Given the description of an element on the screen output the (x, y) to click on. 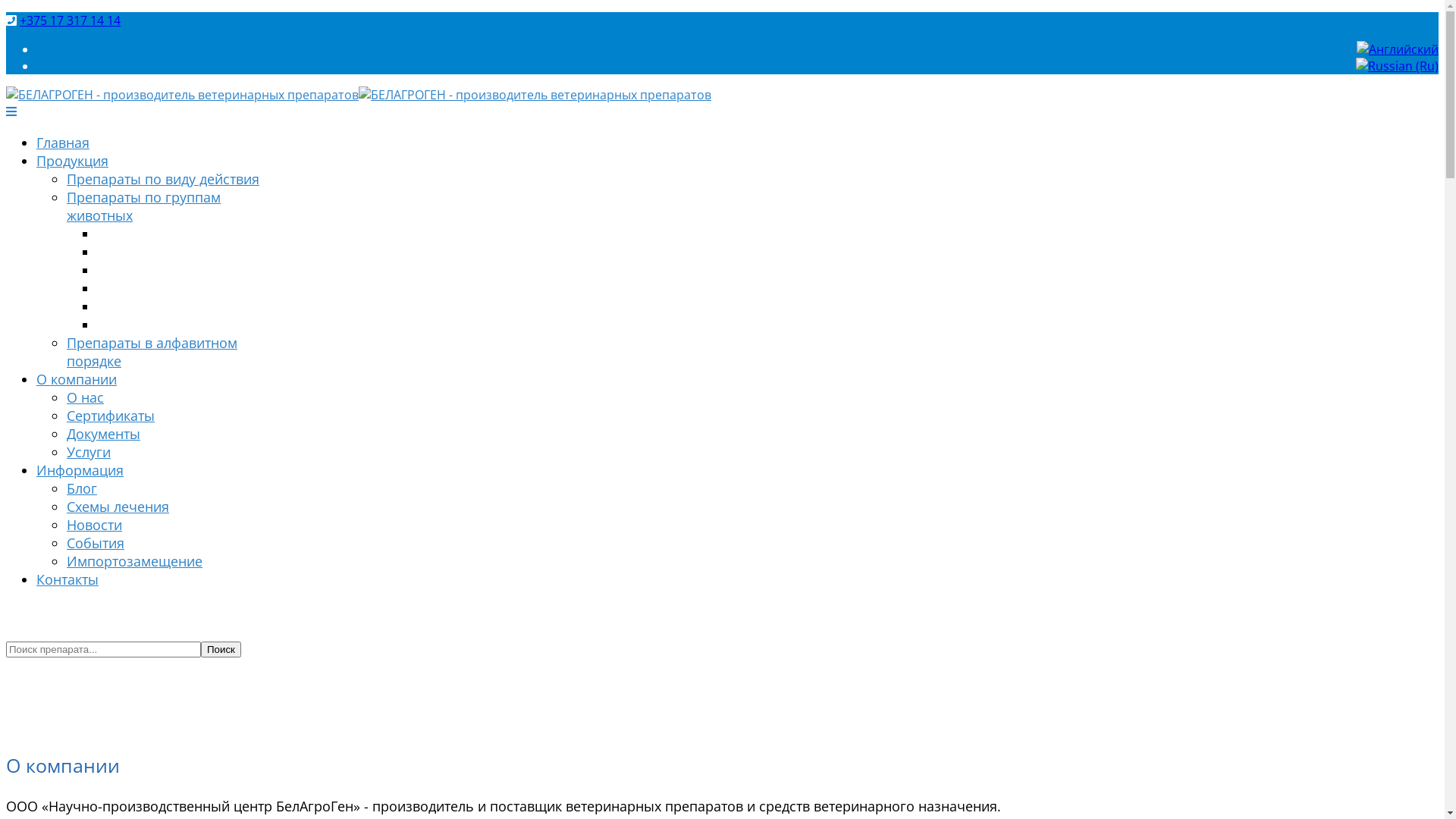
Russian (Ru) Element type: hover (1396, 65)
Helix Megamenu Options Element type: hover (11, 111)
+375 17 317 14 14 Element type: text (69, 20)
